Given the description of an element on the screen output the (x, y) to click on. 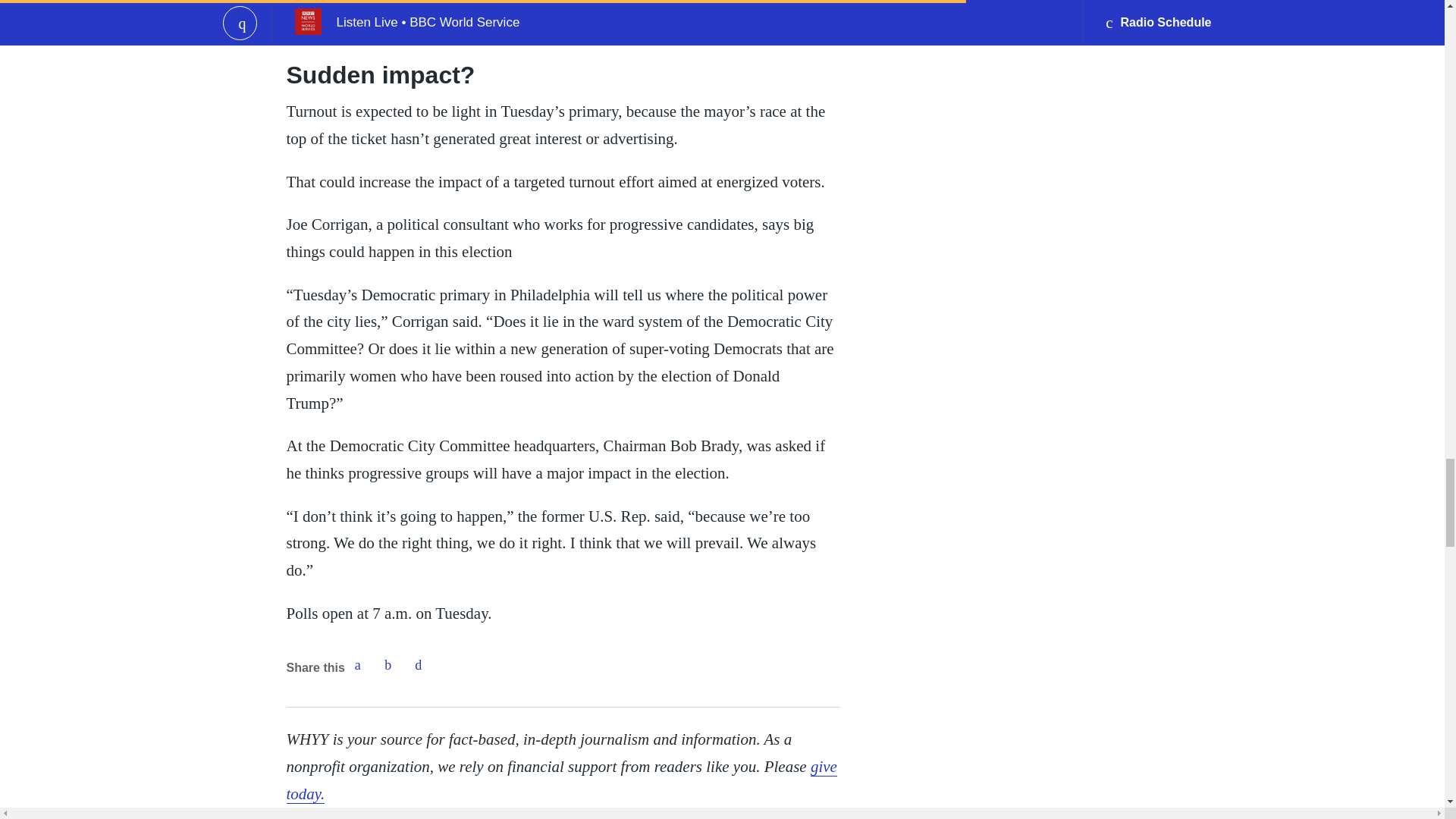
Twitter (387, 665)
Email (418, 665)
Facebook (357, 665)
